Given the description of an element on the screen output the (x, y) to click on. 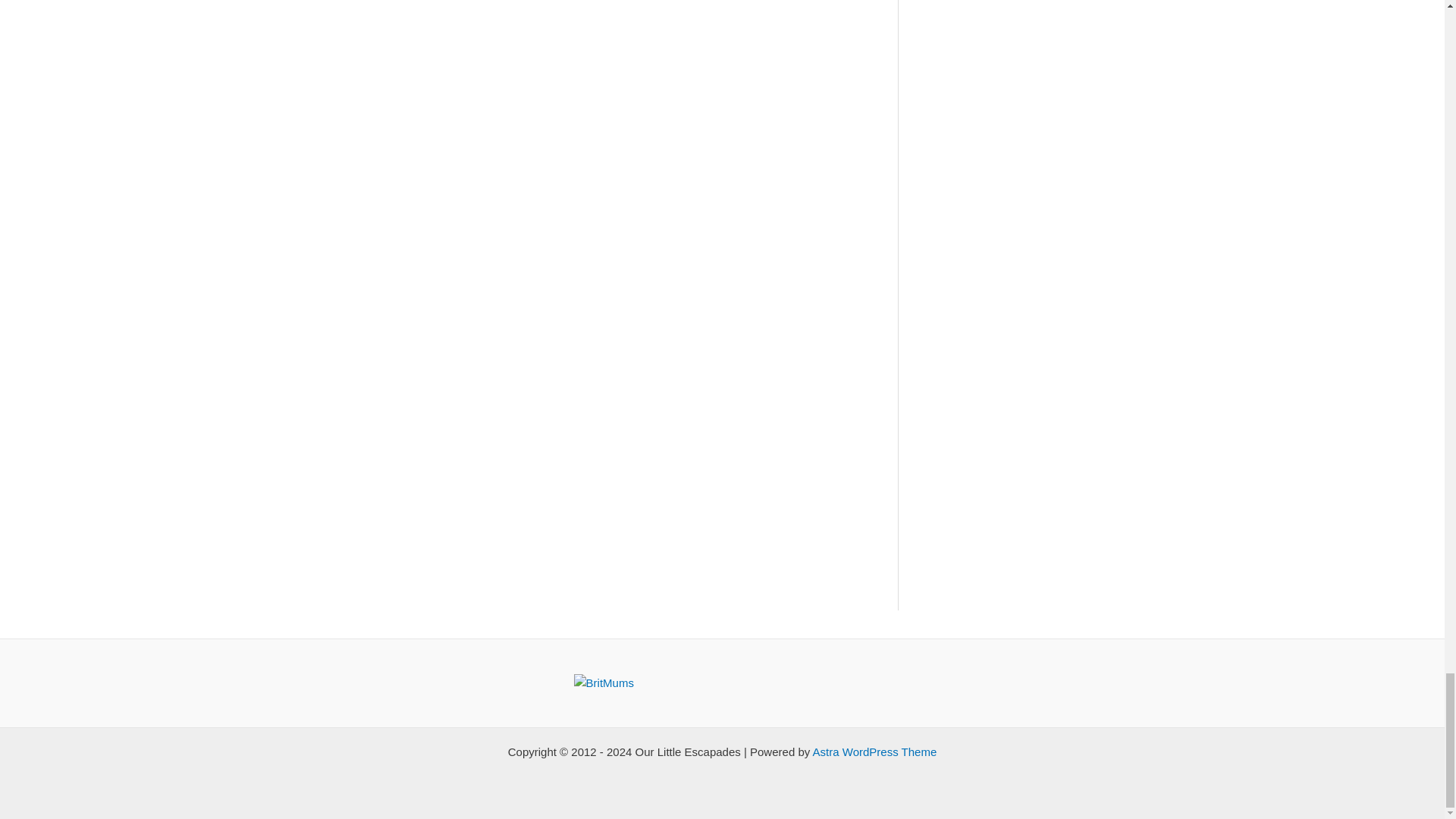
BritMums (603, 681)
